Given the description of an element on the screen output the (x, y) to click on. 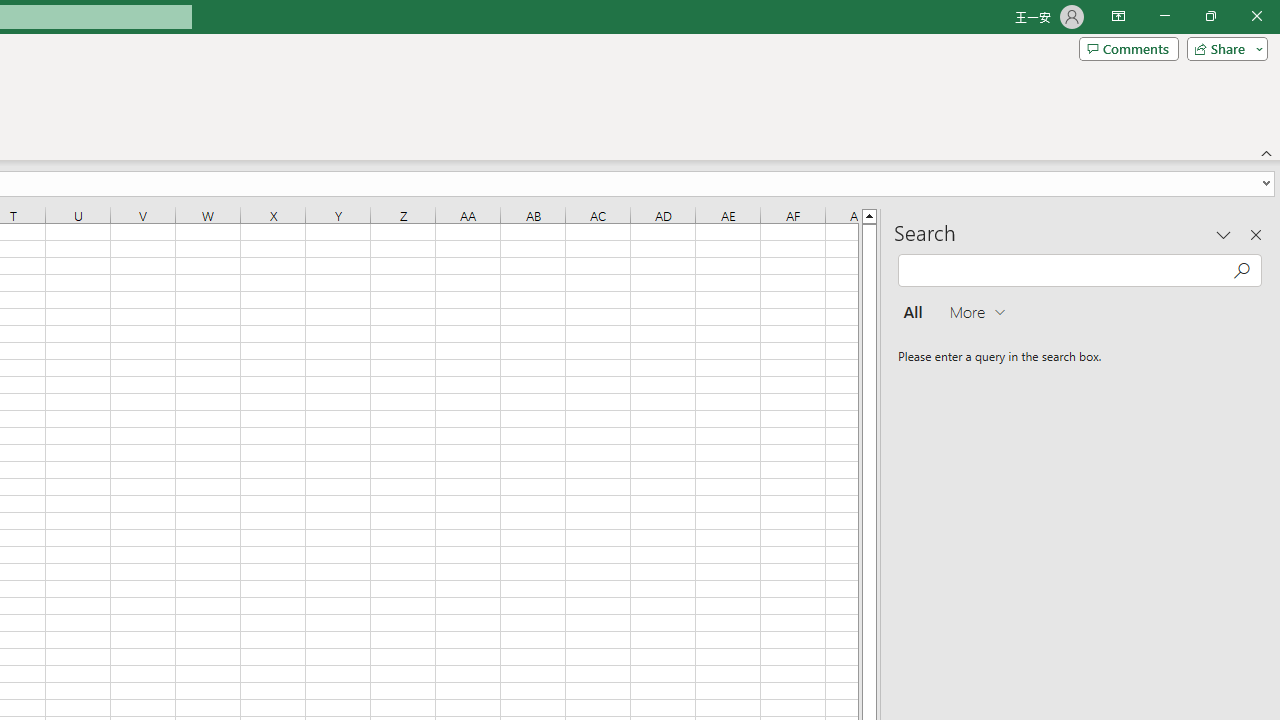
Share (1223, 48)
Close (1256, 16)
Ribbon Display Options (1118, 16)
Collapse the Ribbon (1267, 152)
Line up (869, 215)
Minimize (1164, 16)
Close pane (1256, 234)
Restore Down (1210, 16)
Task Pane Options (1224, 234)
Comments (1128, 48)
